Given the description of an element on the screen output the (x, y) to click on. 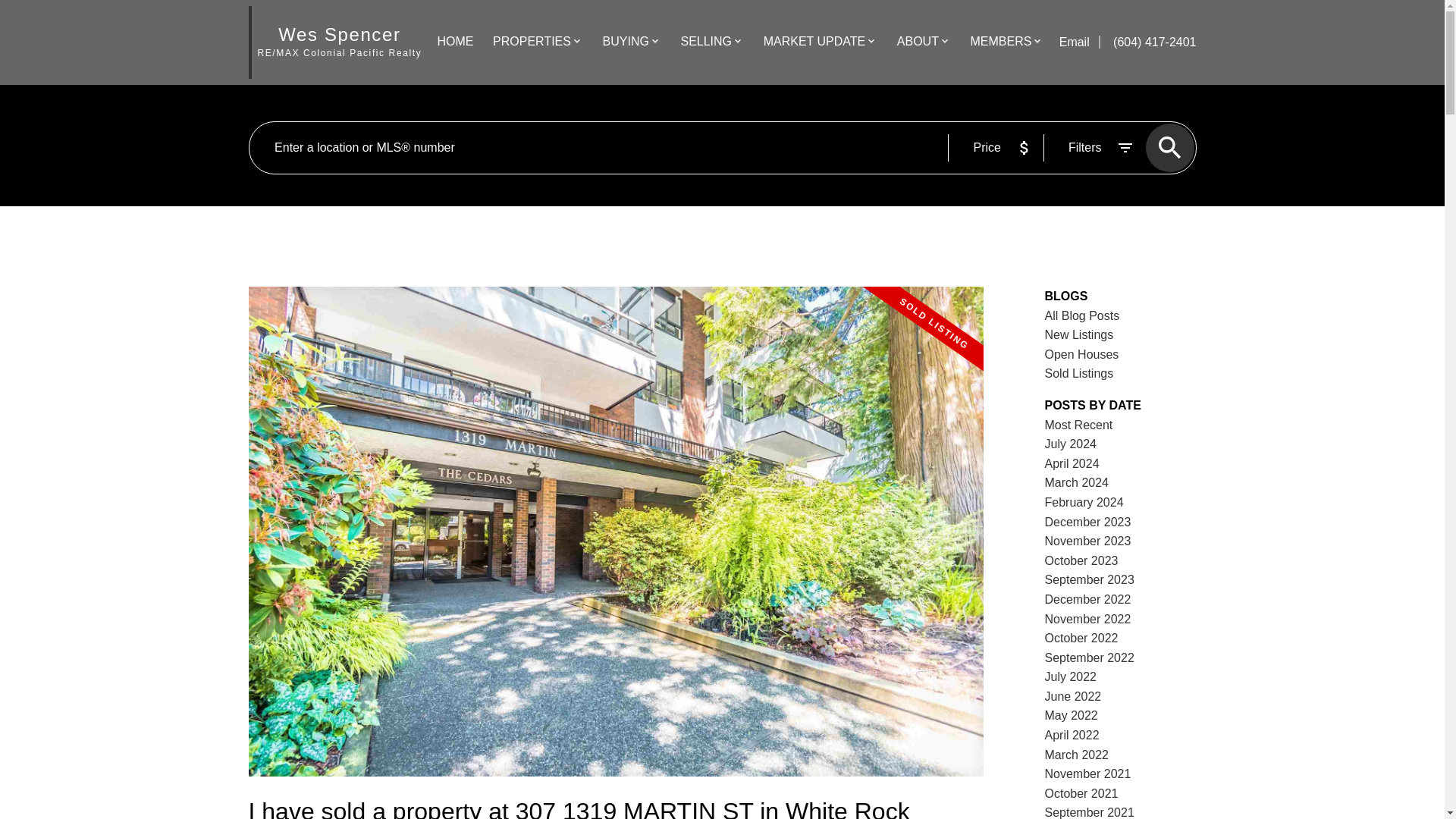
I have sold a property at 307 1319 MARTIN ST in White Rock (616, 806)
Email (1076, 42)
HOME (454, 42)
BUYING (625, 42)
ABOUT (917, 42)
SELLING (705, 42)
PROPERTIES (531, 42)
